Given the description of an element on the screen output the (x, y) to click on. 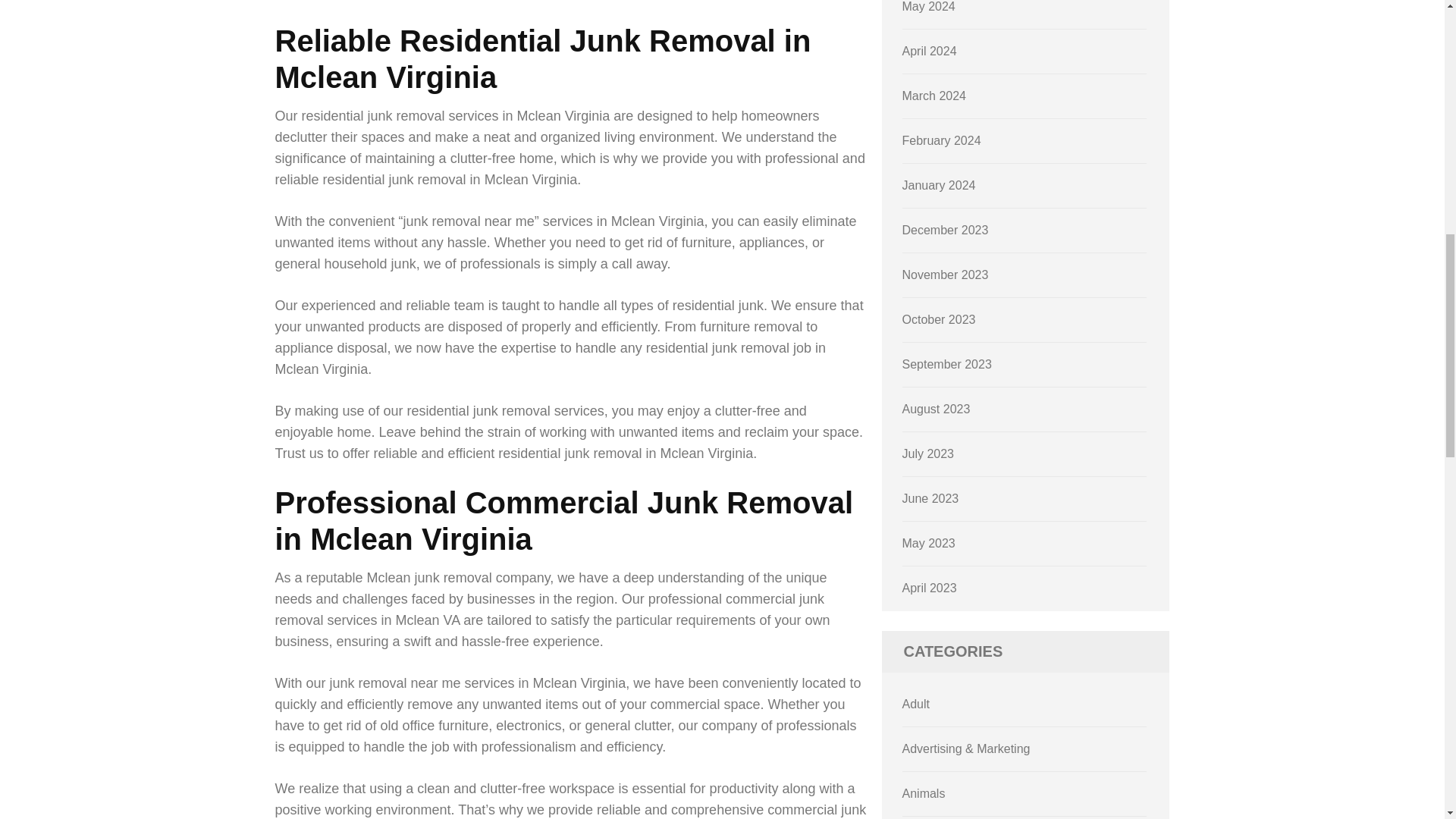
September 2023 (946, 364)
January 2024 (938, 185)
August 2023 (936, 408)
February 2024 (941, 140)
May 2024 (928, 6)
November 2023 (945, 274)
October 2023 (938, 318)
April 2024 (929, 51)
April 2023 (929, 587)
July 2023 (928, 453)
